Given the description of an element on the screen output the (x, y) to click on. 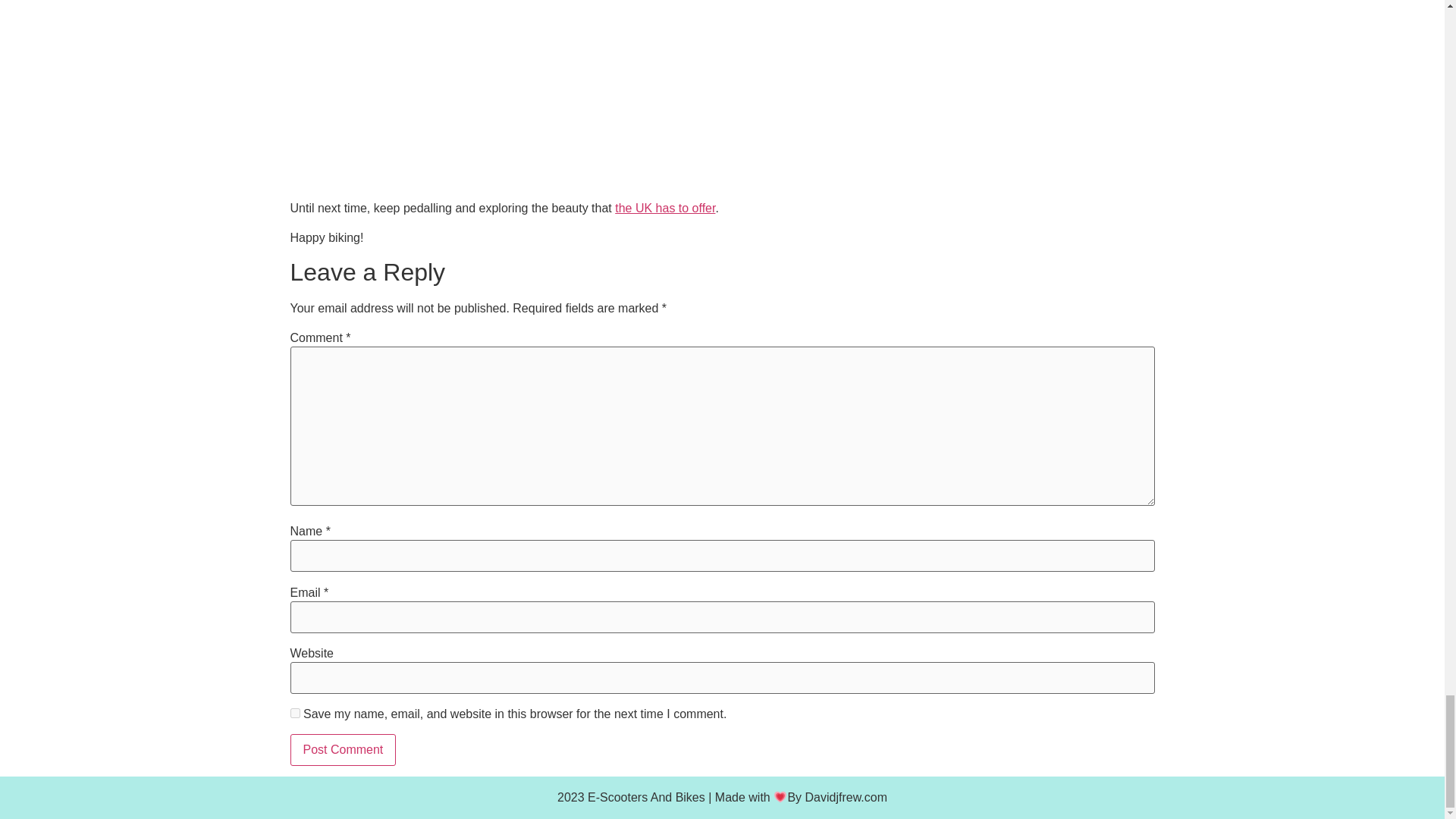
Post Comment (342, 749)
yes (294, 713)
